Given the description of an element on the screen output the (x, y) to click on. 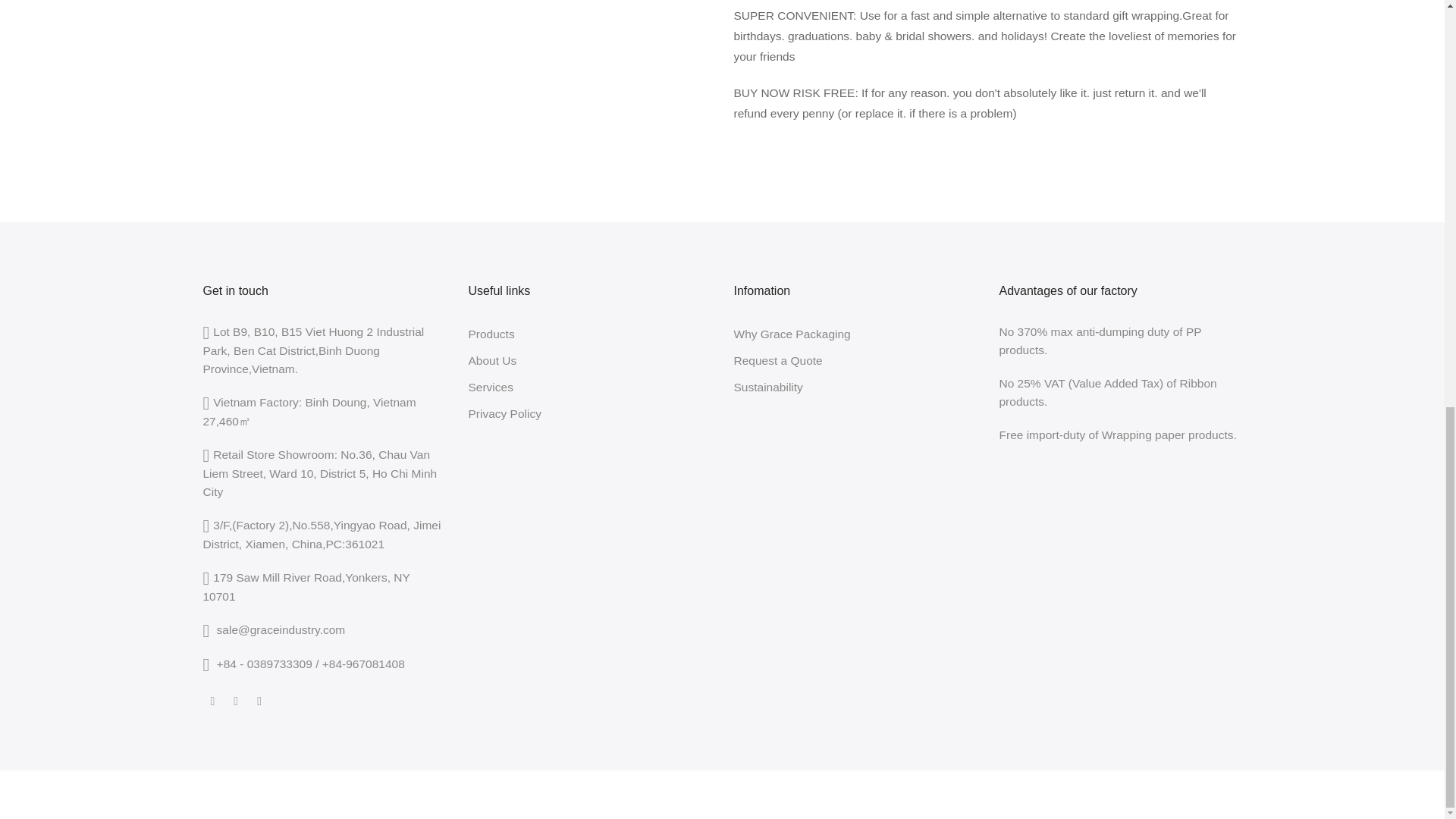
Products (491, 333)
Request a Quote (777, 359)
About Us (492, 359)
Why Grace Packaging (791, 333)
Sustainability (768, 386)
Privacy Policy (504, 413)
Services (490, 386)
